Given the description of an element on the screen output the (x, y) to click on. 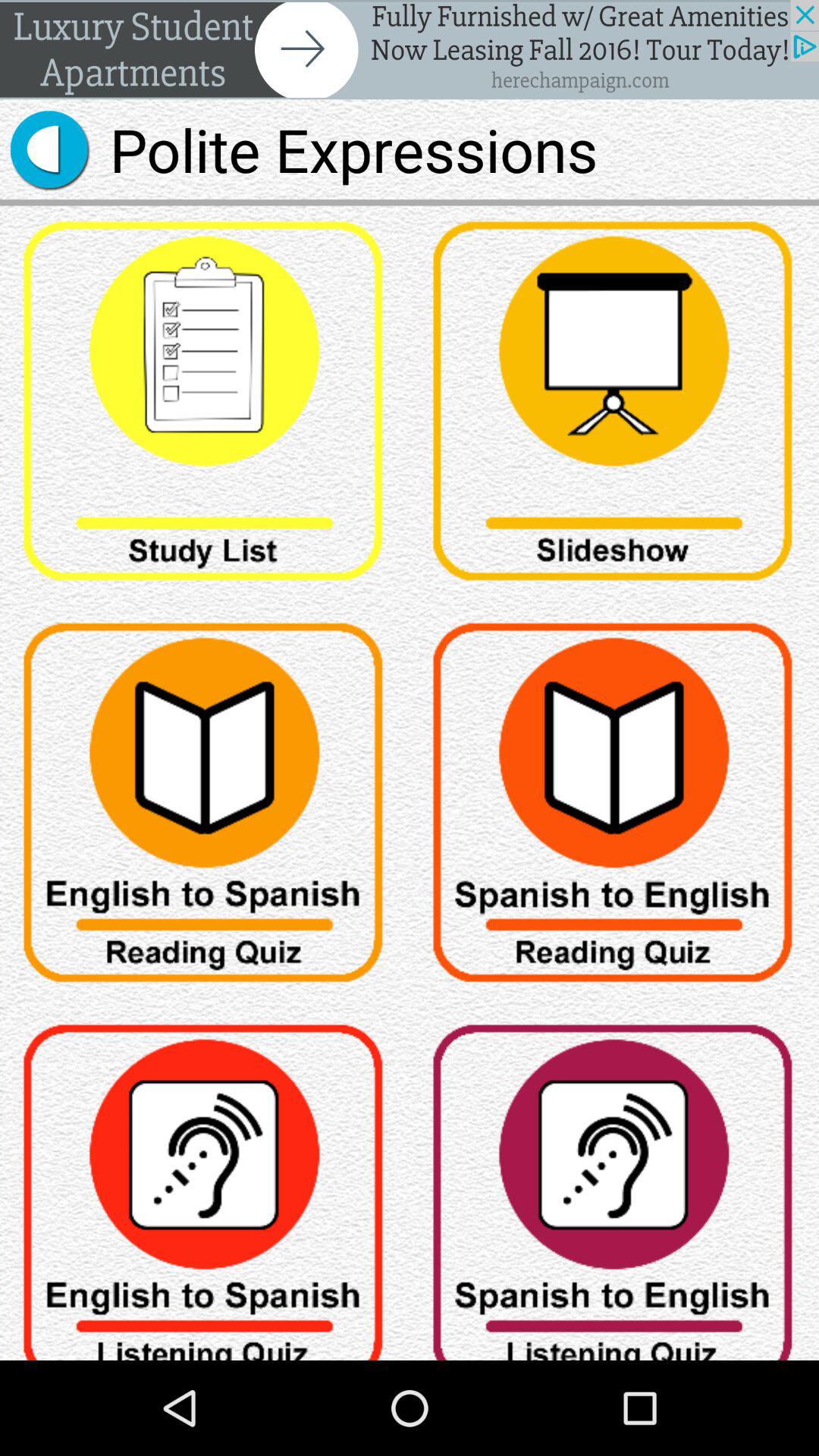
open reading (614, 807)
